Given the description of an element on the screen output the (x, y) to click on. 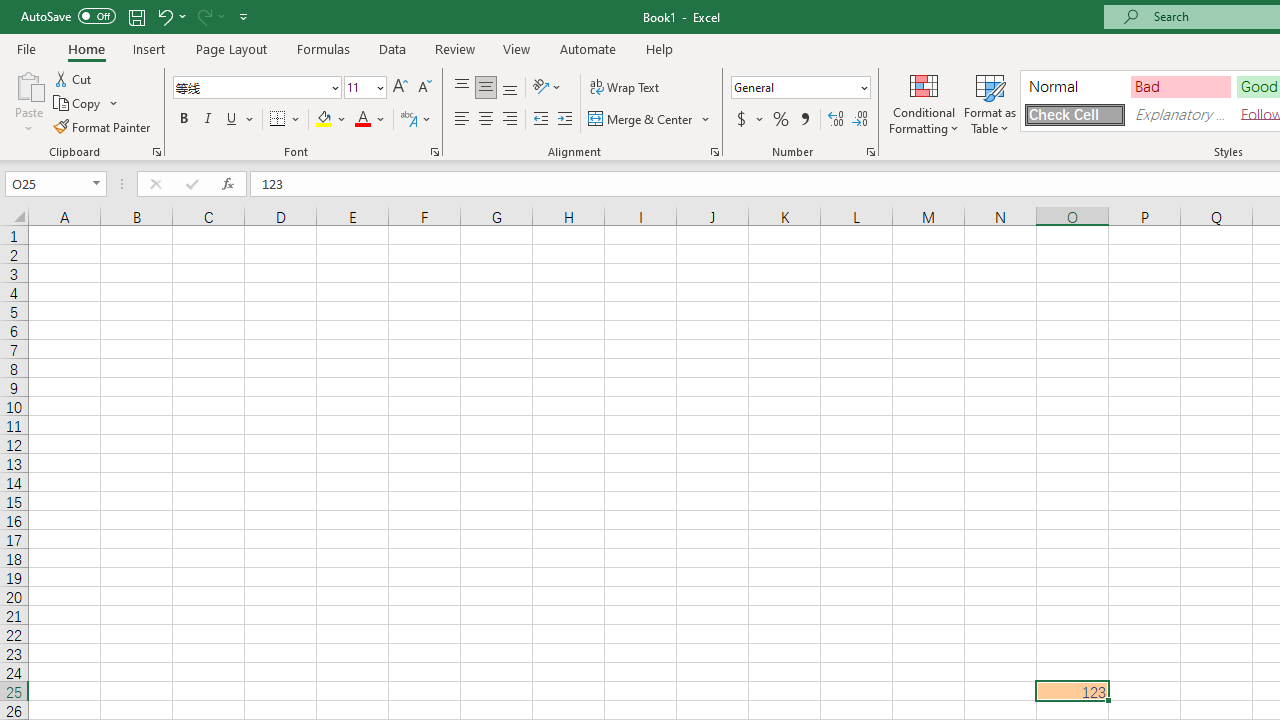
Format as Table (990, 102)
Font Color RGB(255, 0, 0) (362, 119)
Merge & Center (649, 119)
Fill Color RGB(255, 255, 0) (324, 119)
Comma Style (804, 119)
Accounting Number Format (741, 119)
Font Color (370, 119)
Bold (183, 119)
Bottom Align (509, 87)
Increase Decimal (836, 119)
